Given the description of an element on the screen output the (x, y) to click on. 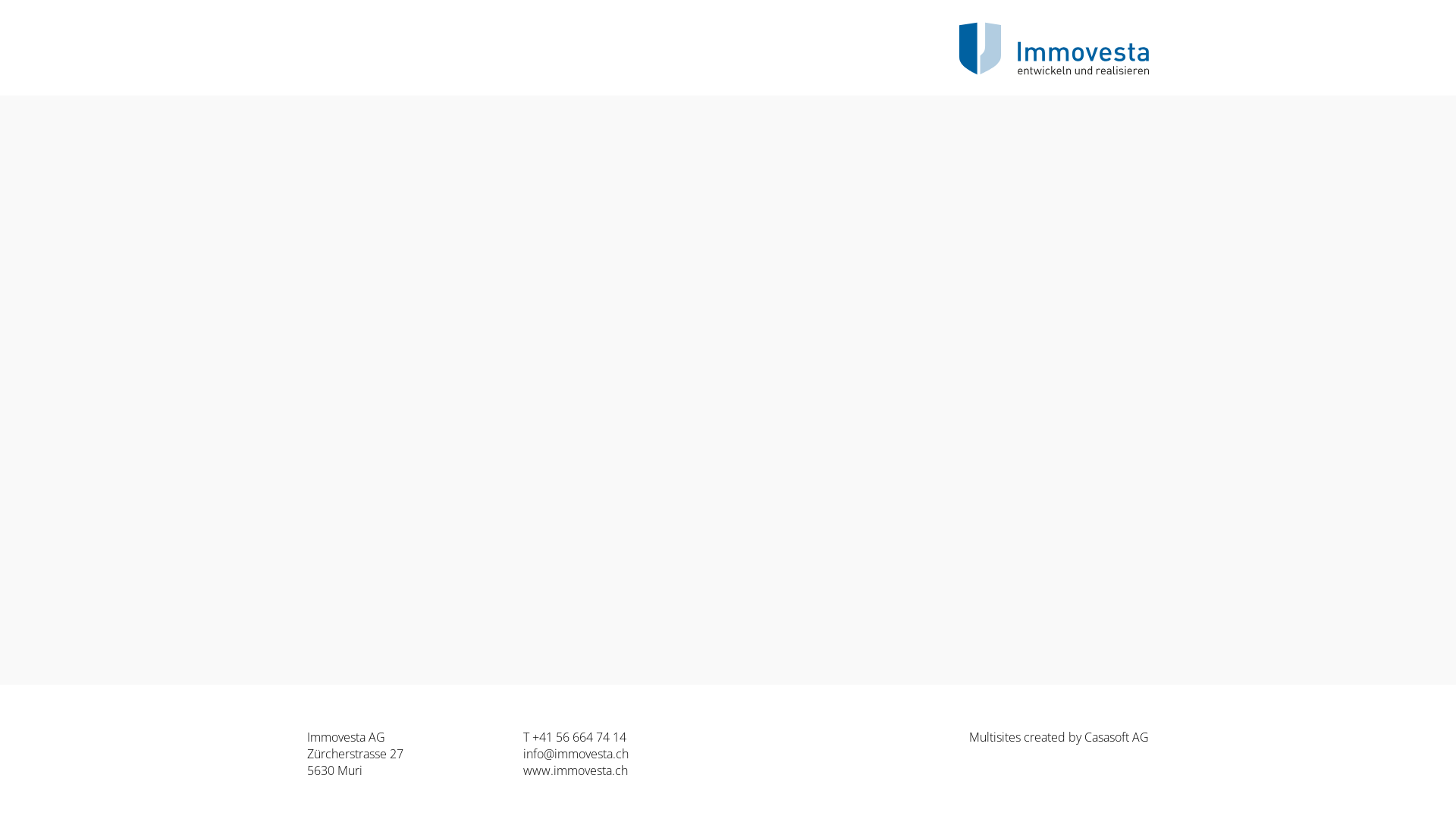
info@immovesta.ch Element type: text (575, 753)
Casasoft AG Element type: text (1116, 736)
www.immovesta.ch Element type: text (575, 770)
